Given the description of an element on the screen output the (x, y) to click on. 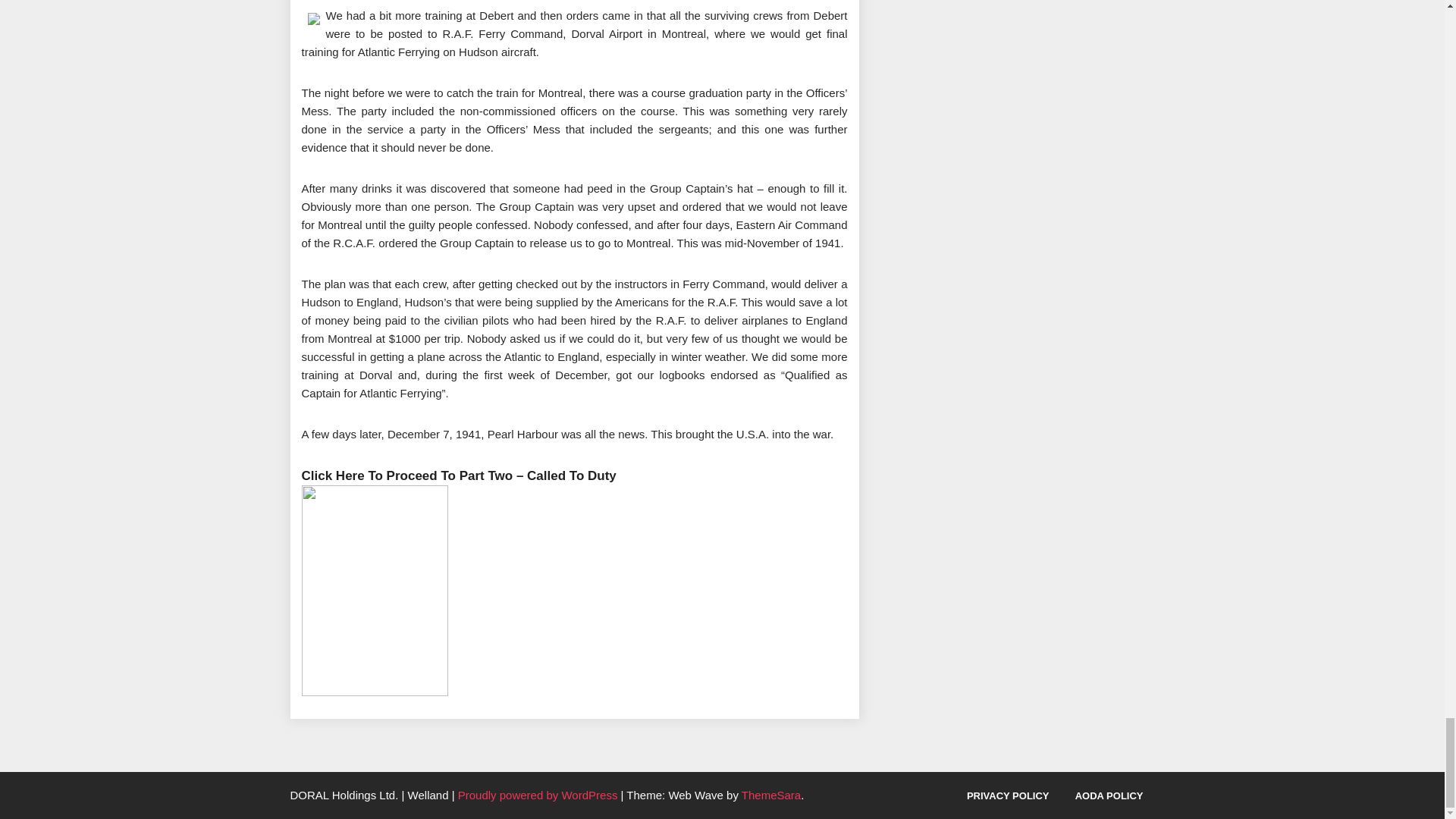
Proudly powered by WordPress (539, 794)
PRIVACY POLICY (1007, 795)
ThemeSara (770, 794)
AODA POLICY (1108, 795)
